Given the description of an element on the screen output the (x, y) to click on. 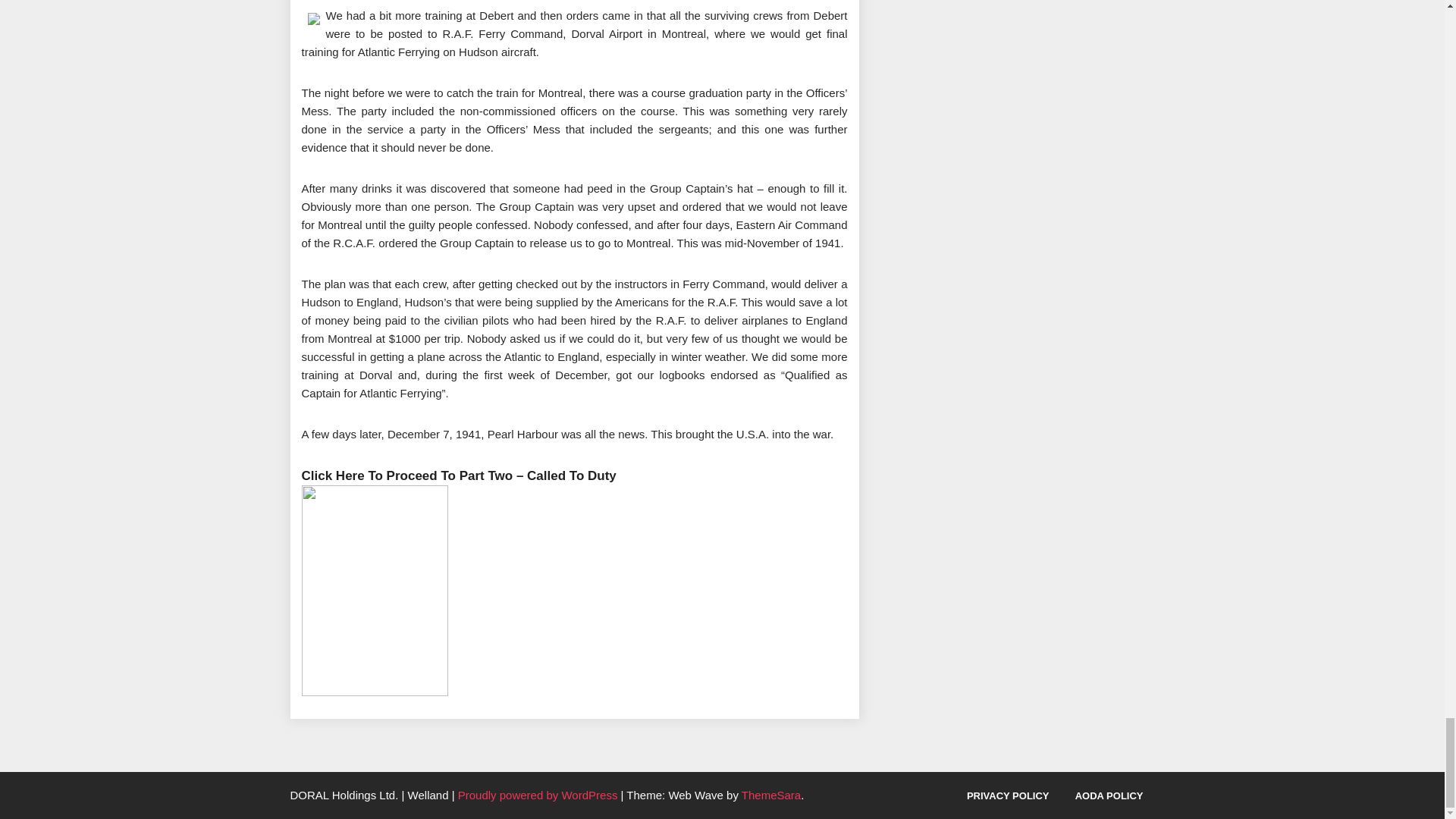
Proudly powered by WordPress (539, 794)
PRIVACY POLICY (1007, 795)
ThemeSara (770, 794)
AODA POLICY (1108, 795)
